Given the description of an element on the screen output the (x, y) to click on. 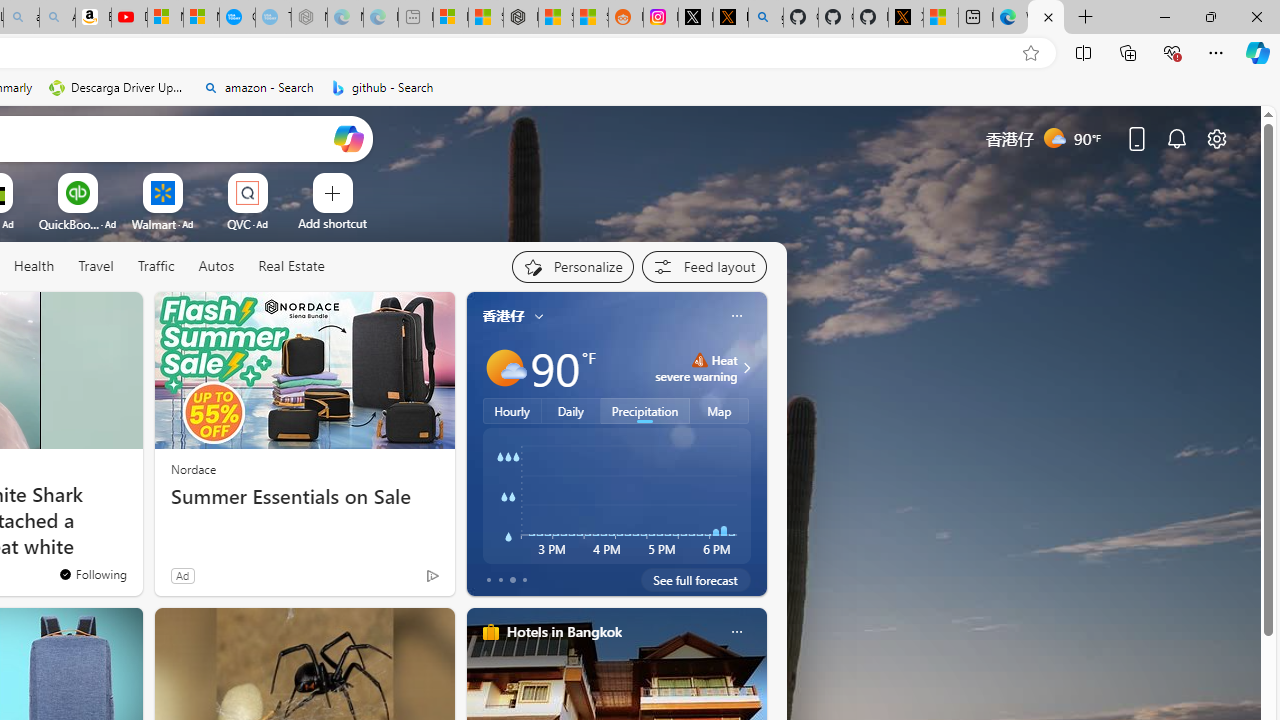
github - Search (381, 88)
Class: weather-arrow-glyph (746, 367)
Hotels in Bangkok (563, 631)
Log in to X / X (695, 17)
Heat - Severe (699, 359)
Click to see more information (744, 367)
Mostly sunny (504, 368)
Travel (95, 265)
tab-1 (500, 579)
